Given the description of an element on the screen output the (x, y) to click on. 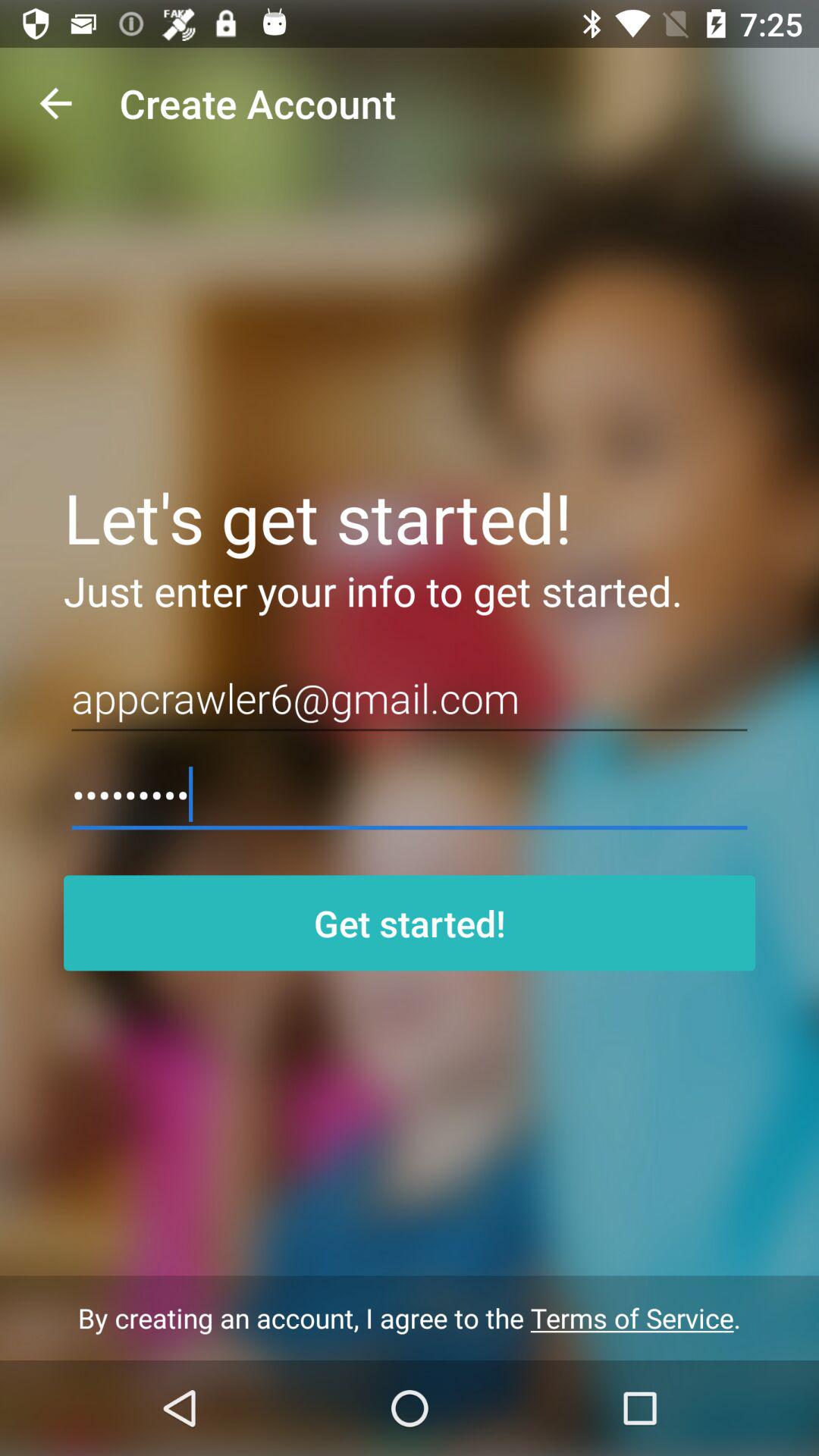
choose the item to the left of create account app (55, 103)
